Given the description of an element on the screen output the (x, y) to click on. 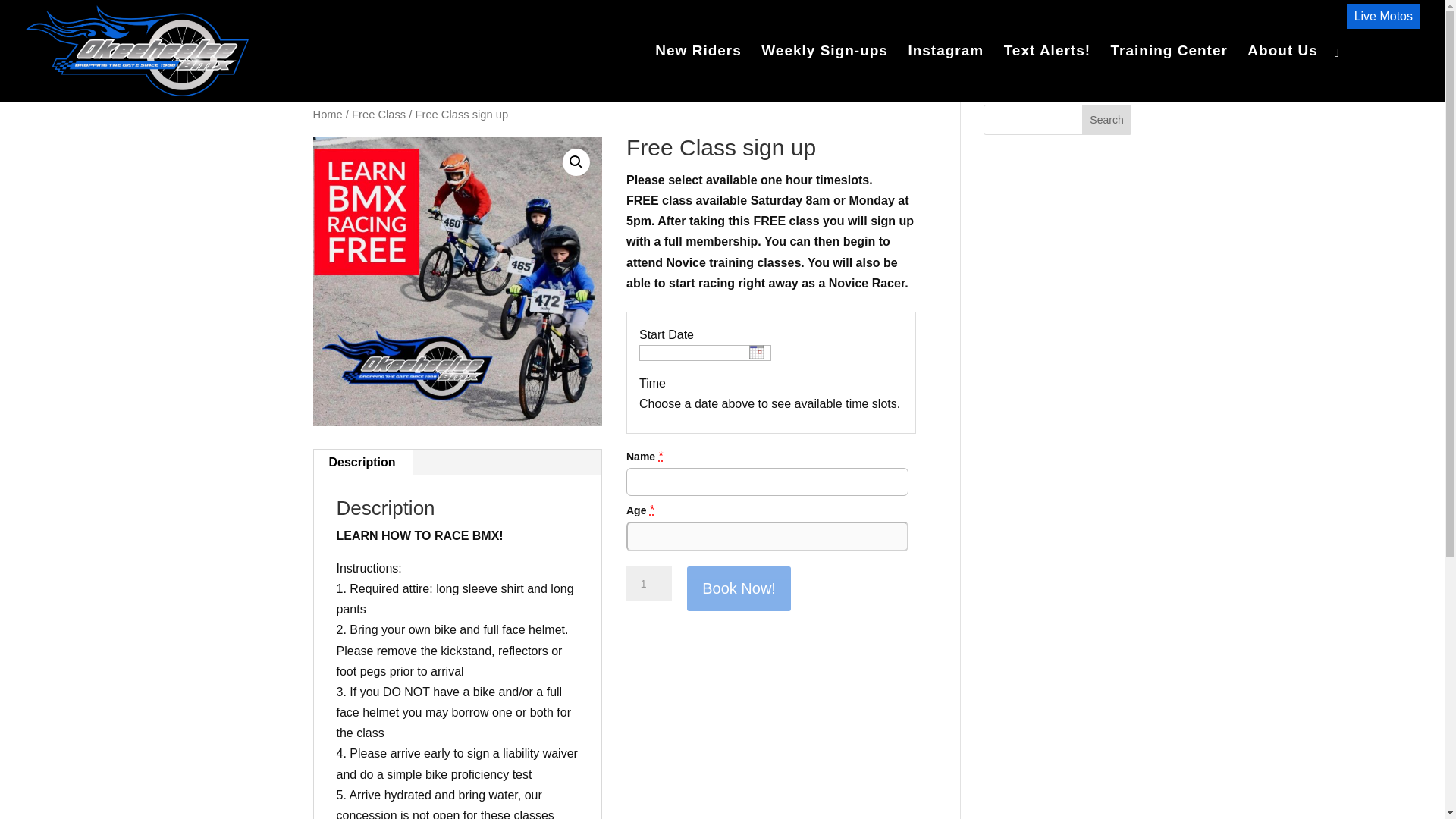
Weekly Sign-ups (824, 73)
About Us (1282, 73)
Home (327, 114)
New Riders (698, 73)
Instagram (945, 73)
Training Center (1168, 73)
Description (362, 462)
Search (1106, 119)
Book Now! (738, 588)
Live Motos (1383, 16)
